Given the description of an element on the screen output the (x, y) to click on. 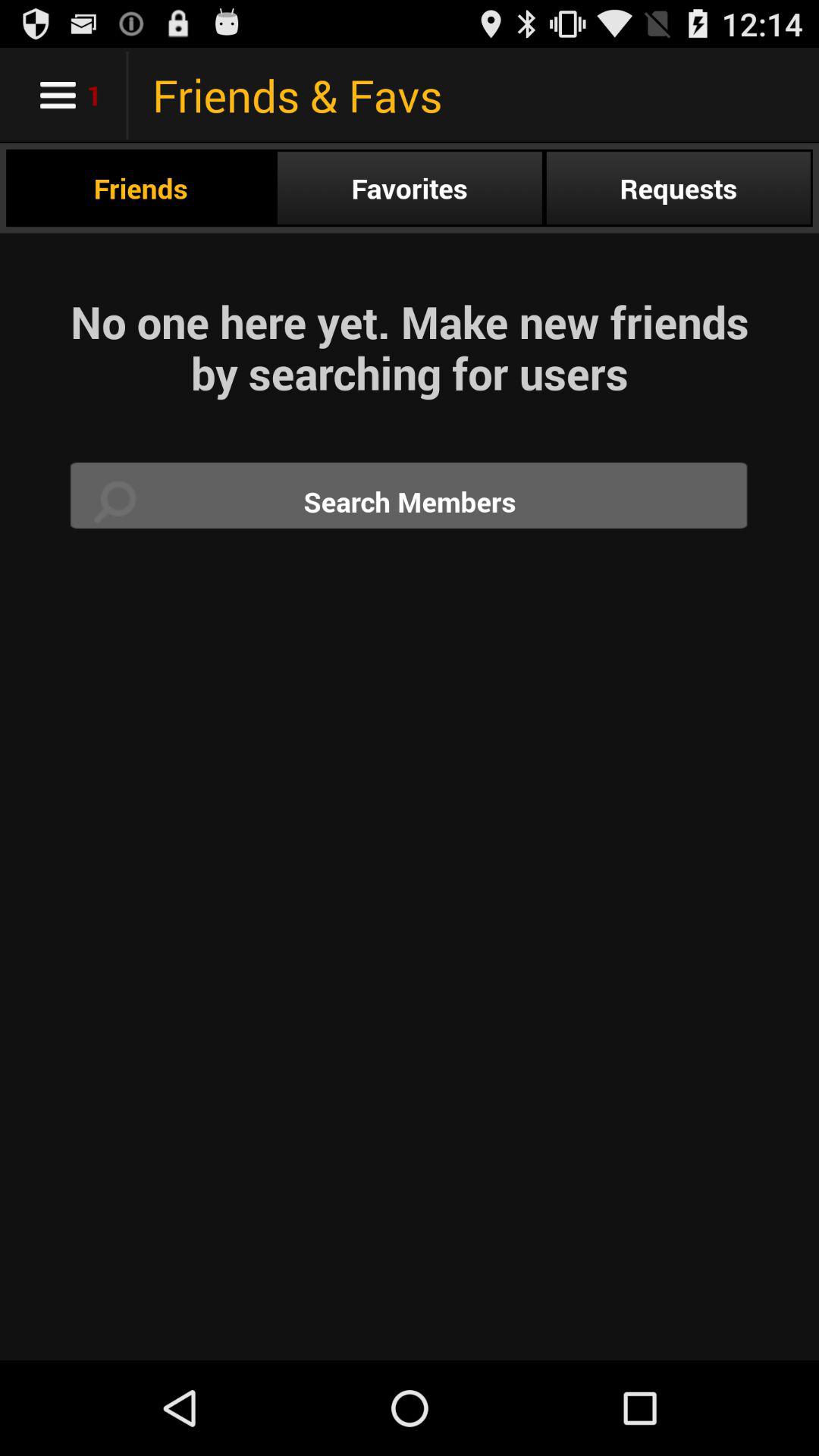
open item above no one here (678, 187)
